Given the description of an element on the screen output the (x, y) to click on. 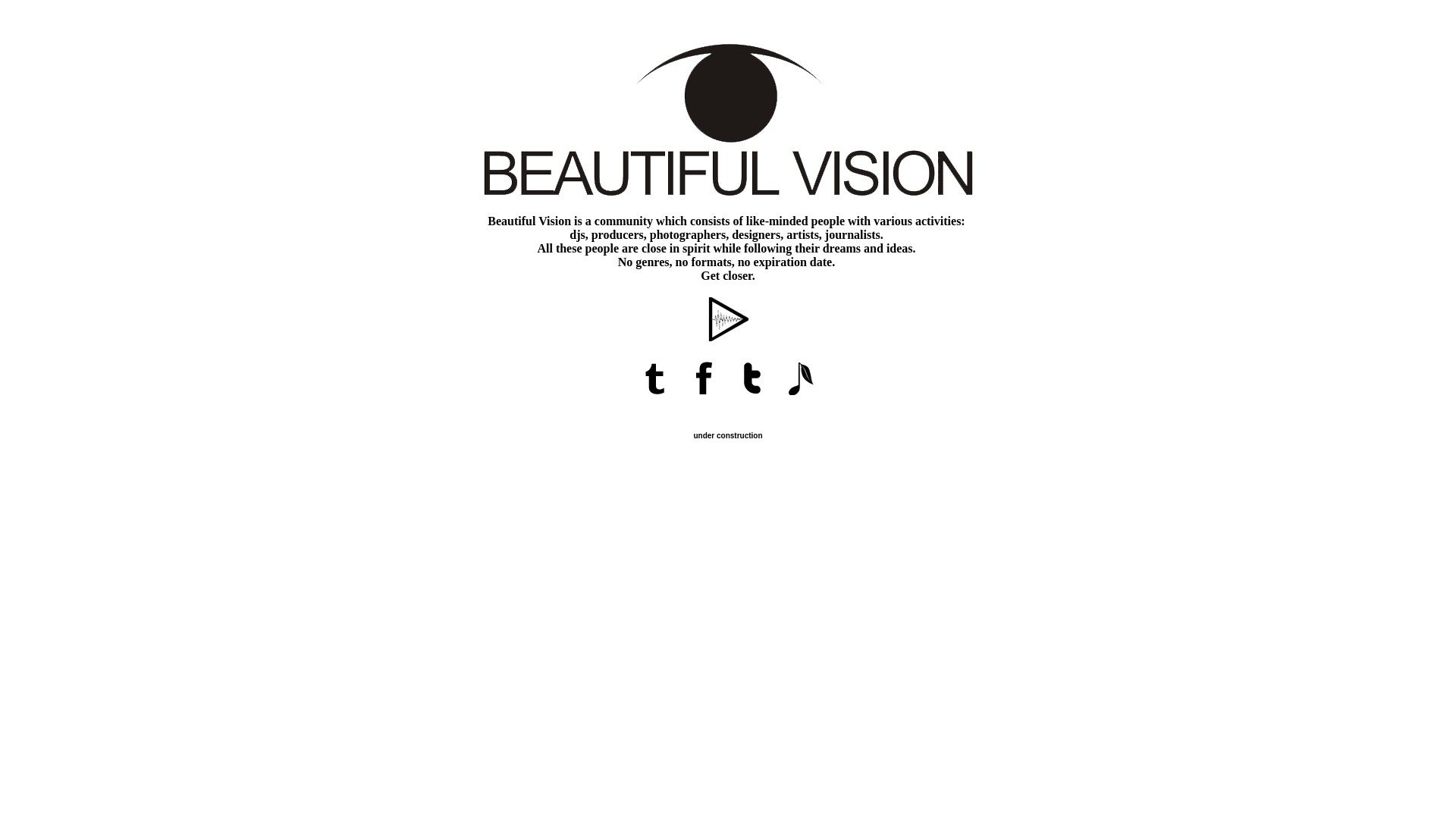
Beautiful Vision on Official.fm Element type: hover (800, 396)
Beautiful Vision Magazine Element type: hover (654, 396)
Beautiful Vision on Facebook Element type: hover (703, 396)
Beautiful Vision on Twitter Element type: hover (752, 396)
